Given the description of an element on the screen output the (x, y) to click on. 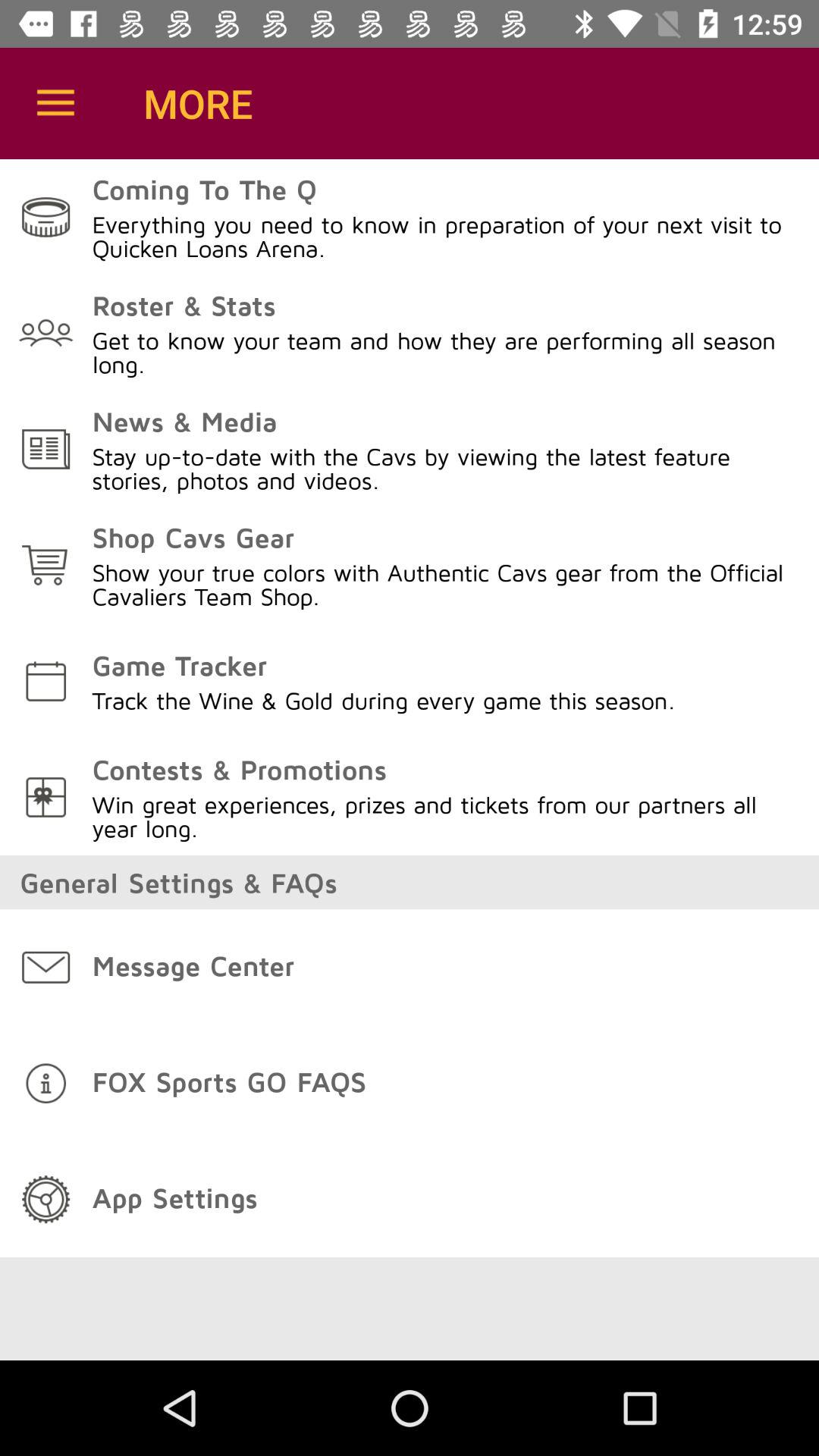
select the item to the left of the more icon (55, 103)
